Given the description of an element on the screen output the (x, y) to click on. 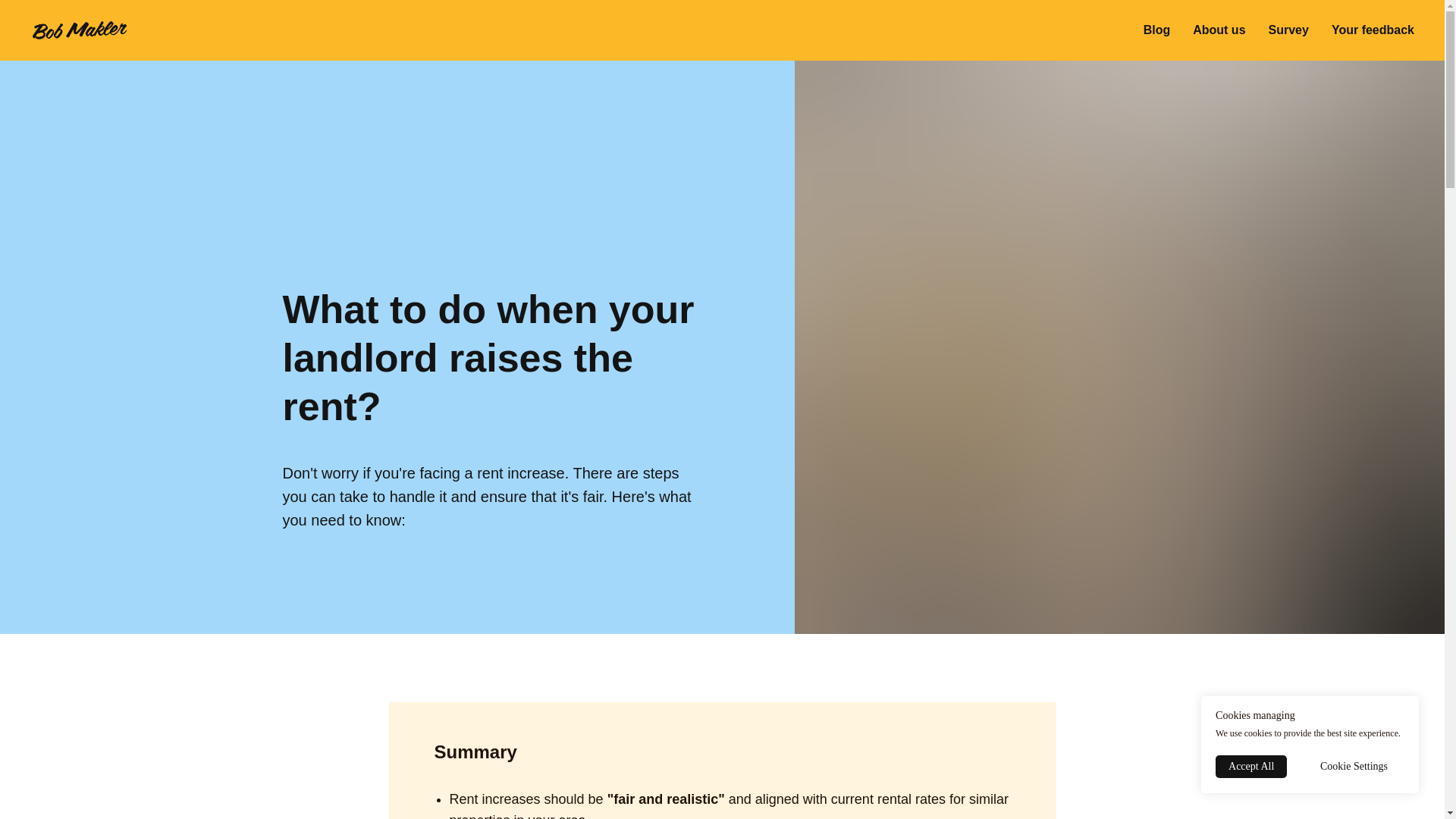
Accept All (1251, 766)
Blog (1156, 29)
Survey (1288, 29)
Your feedback (1372, 29)
Cookie Settings (1353, 766)
About us (1218, 29)
